Given the description of an element on the screen output the (x, y) to click on. 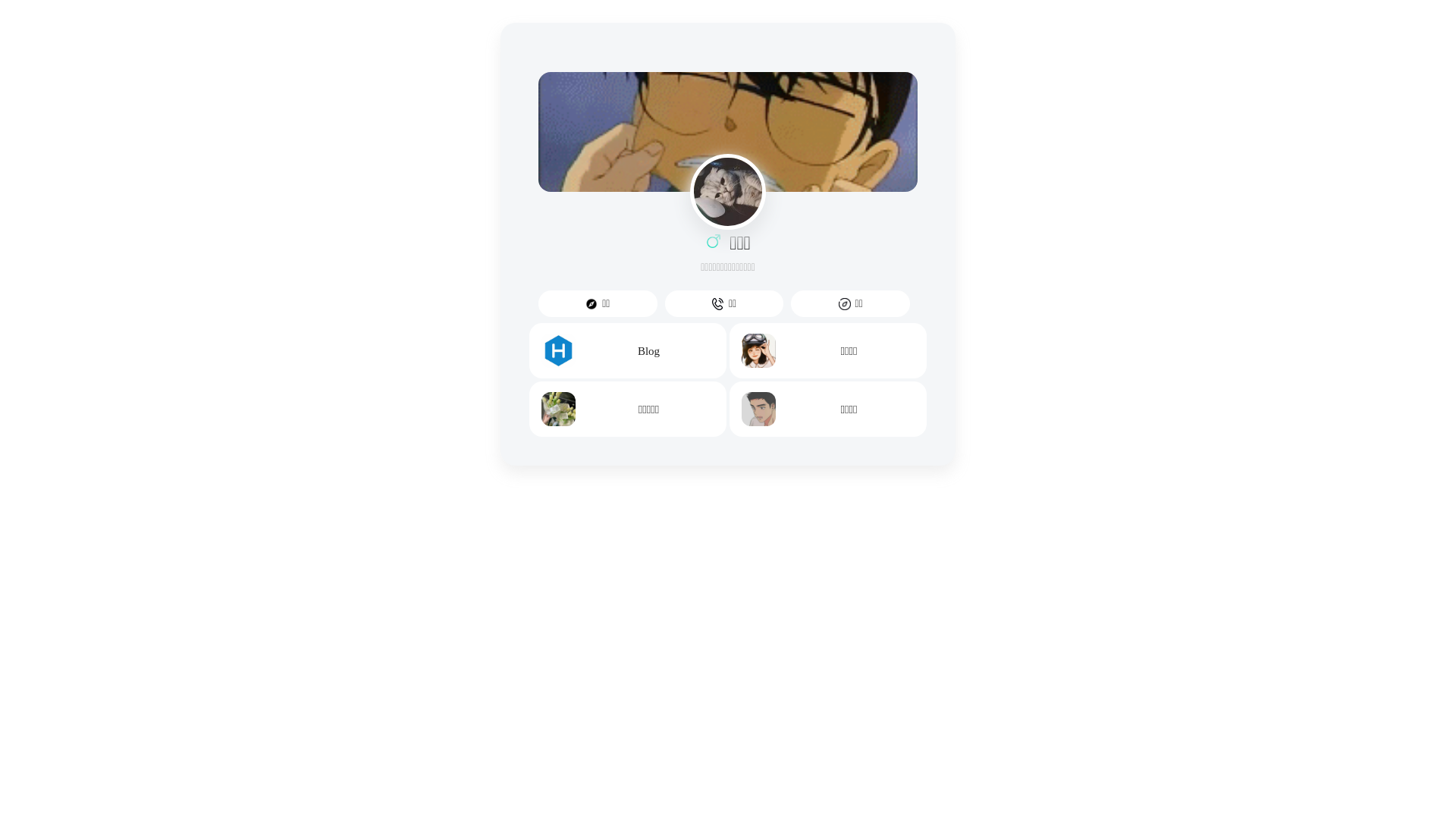
Blog Element type: text (627, 350)
